Given the description of an element on the screen output the (x, y) to click on. 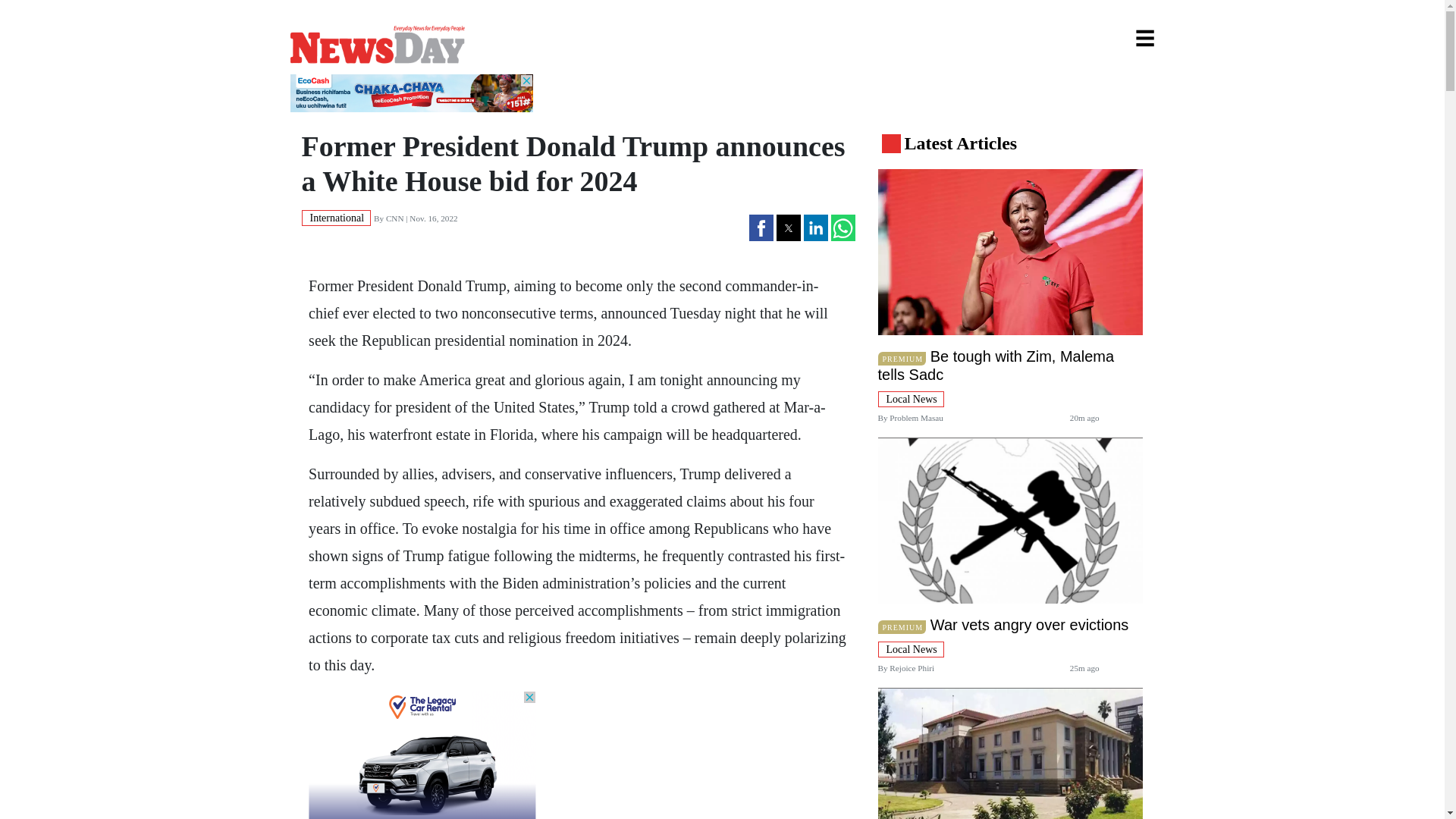
3rd party ad content (410, 93)
War vets angry over evictions (1029, 624)
International (336, 216)
Problem Masau (916, 417)
CNN (394, 217)
Local News (910, 648)
Be tough with Zim, Malema tells Sadc (996, 365)
Rejoice Phiri (911, 667)
3rd party ad content (421, 755)
Latest Articles (960, 143)
